Given the description of an element on the screen output the (x, y) to click on. 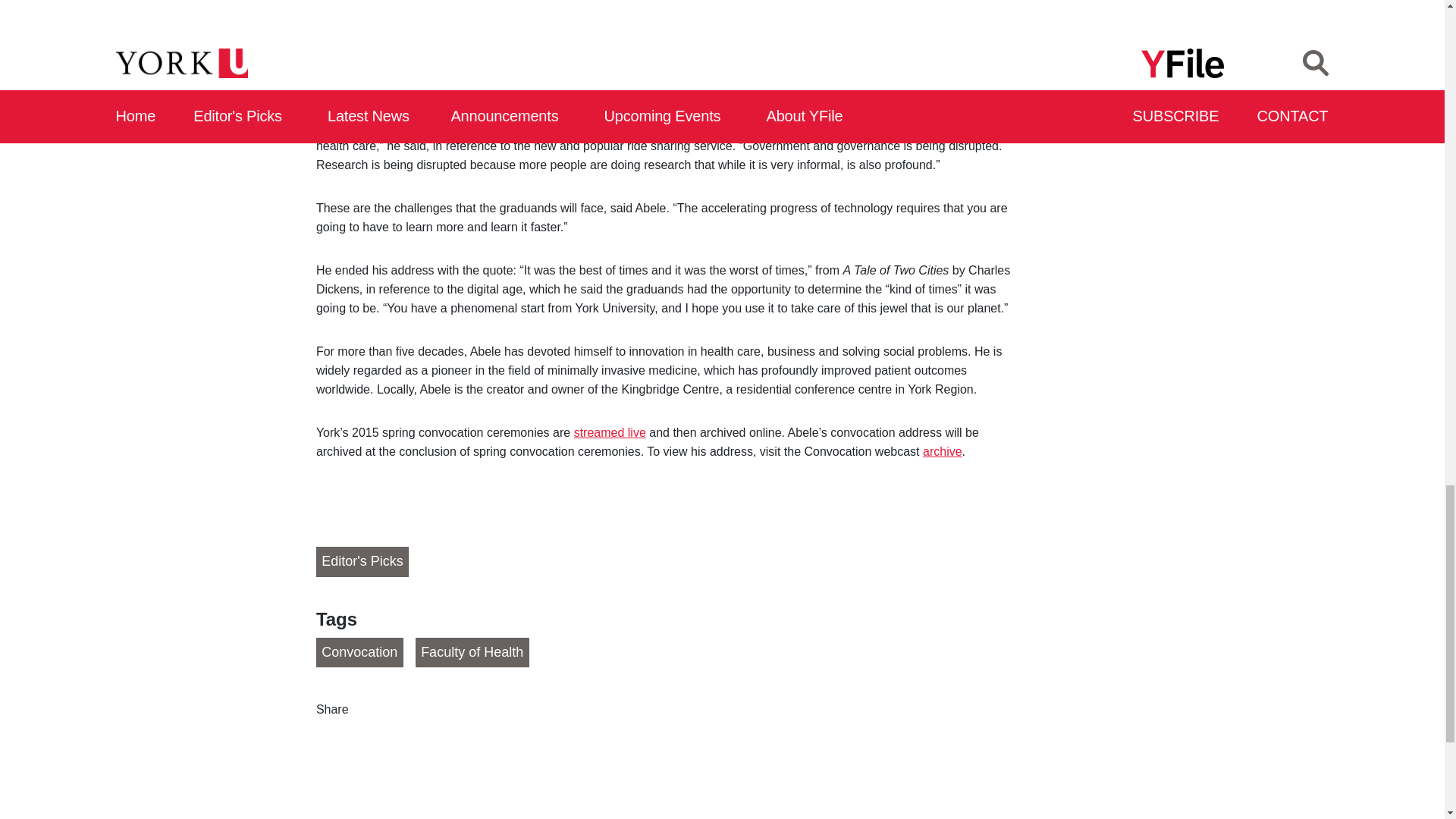
streamed live (609, 431)
Editor's Picks (362, 562)
Convocation (359, 653)
archive (942, 451)
Faculty of Health (471, 653)
